Given the description of an element on the screen output the (x, y) to click on. 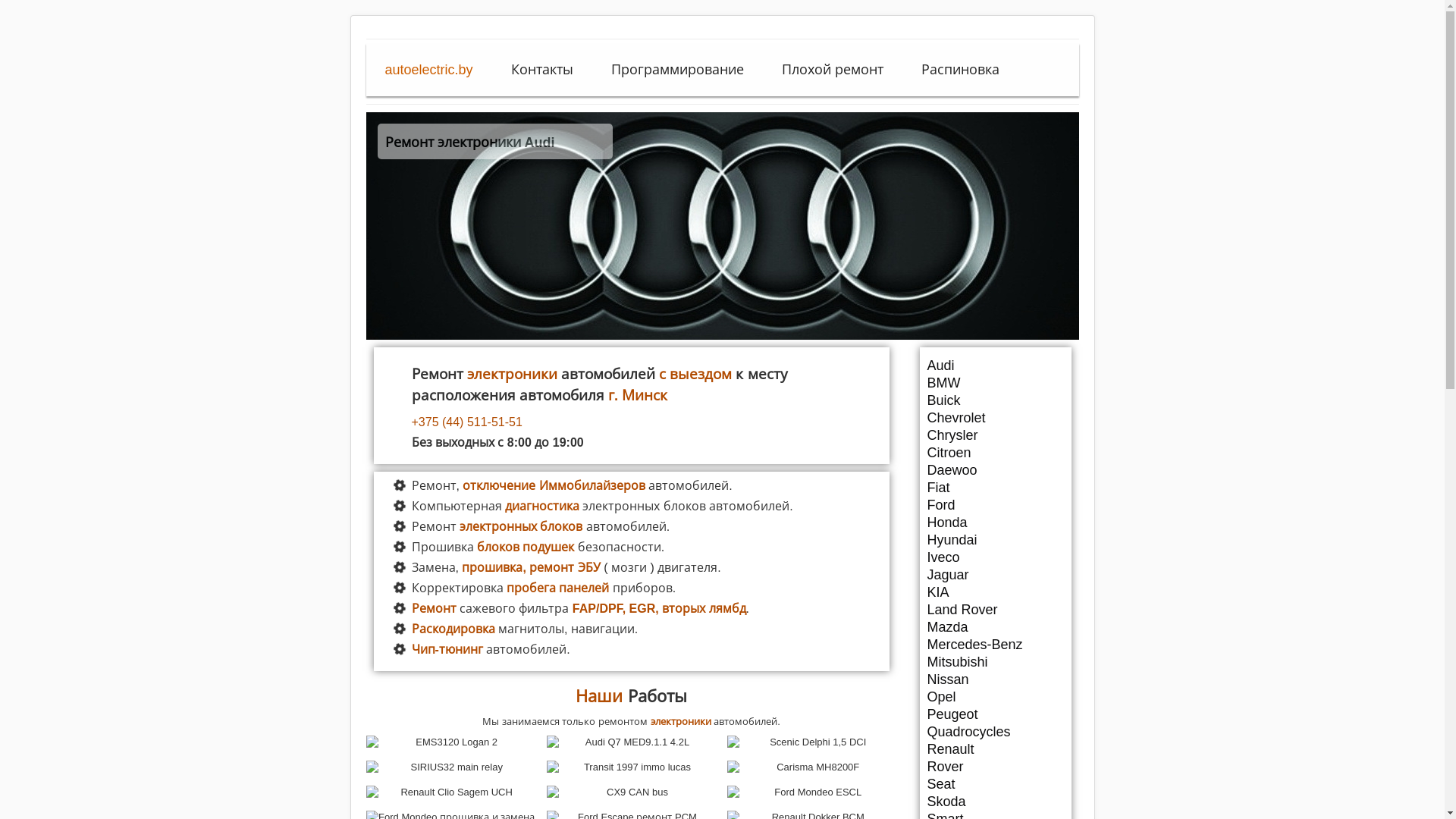
Renault Element type: text (994, 749)
Jaguar Element type: text (994, 574)
Fiat Element type: text (994, 487)
Audi Element type: text (994, 365)
Daewoo Element type: text (994, 469)
Ford Element type: text (994, 504)
Citroen Element type: text (994, 452)
Skoda Element type: text (994, 801)
Rover Element type: text (994, 766)
Hyundai Element type: text (994, 539)
Honda Element type: text (994, 522)
Land Rover Element type: text (994, 609)
KIA Element type: text (994, 592)
Mercedes-Benz Element type: text (994, 644)
BMW Element type: text (994, 382)
Seat Element type: text (994, 783)
Chrysler Element type: text (994, 435)
Mitsubishi Element type: text (994, 661)
Buick Element type: text (994, 400)
Peugeot Element type: text (994, 714)
+375 (44) 511-51-51 Element type: text (646, 422)
autoelectric.by Element type: text (429, 69)
Chevrolet Element type: text (994, 417)
Quadrocycles Element type: text (994, 731)
Opel Element type: text (994, 696)
Mazda Element type: text (994, 626)
Iveco Element type: text (994, 557)
Nissan Element type: text (994, 679)
